Given the description of an element on the screen output the (x, y) to click on. 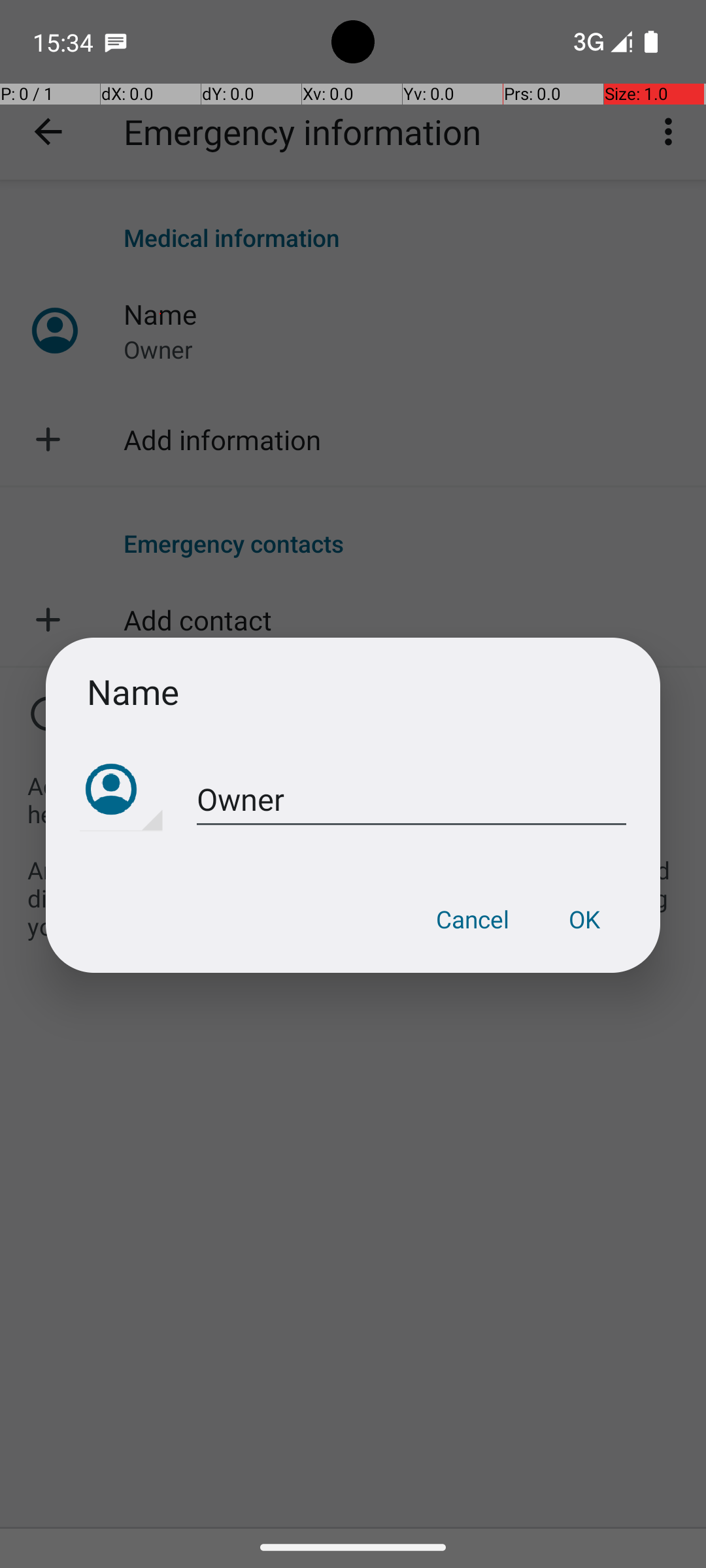
Select photo Element type: android.widget.ImageView (121, 790)
Owner Element type: android.widget.EditText (411, 799)
